Given the description of an element on the screen output the (x, y) to click on. 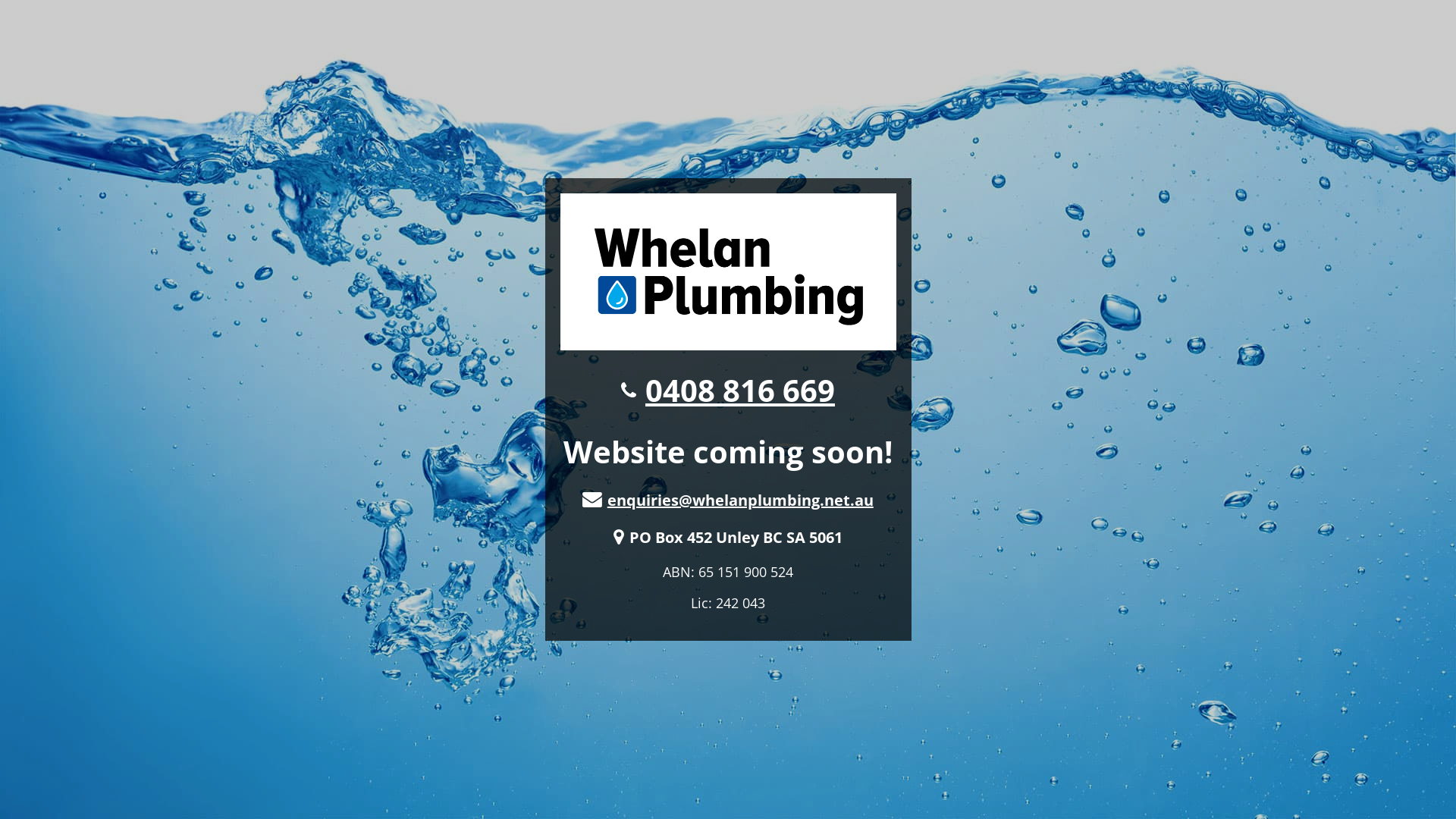
enquiries@whelanplumbing.net.au Element type: text (740, 499)
0408 816 669 Element type: text (739, 390)
